Given the description of an element on the screen output the (x, y) to click on. 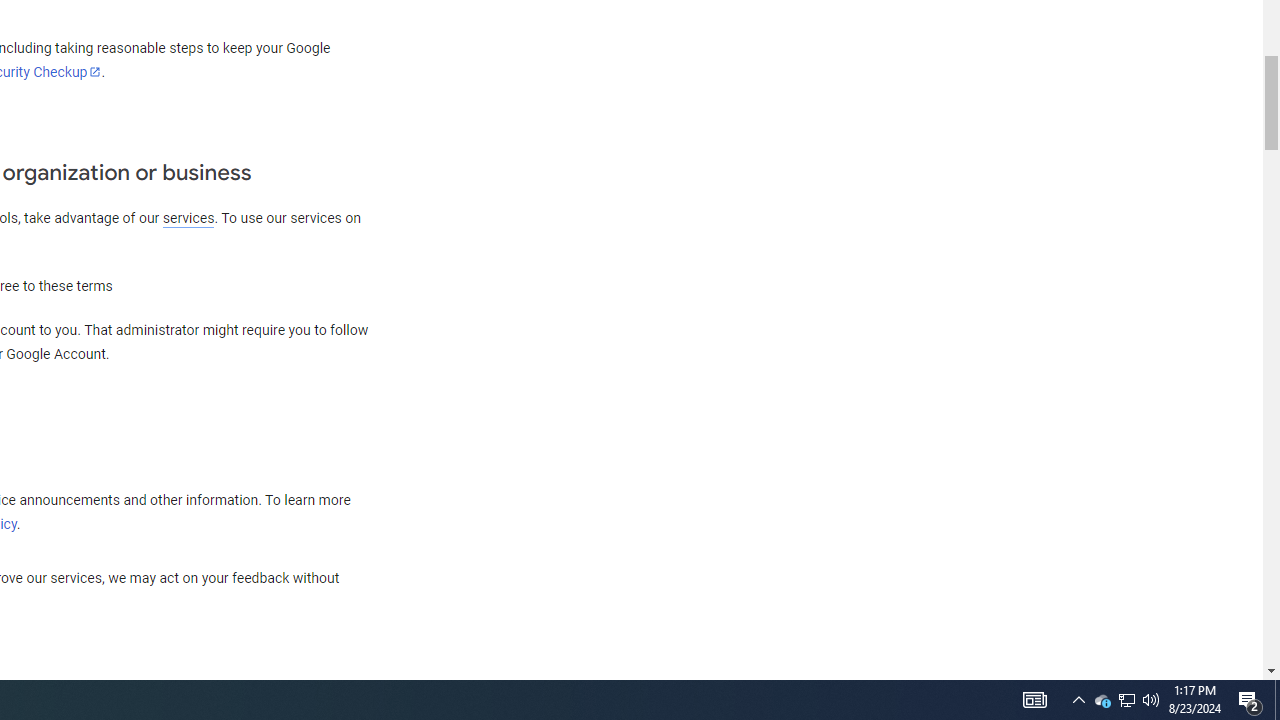
services (188, 218)
